Given the description of an element on the screen output the (x, y) to click on. 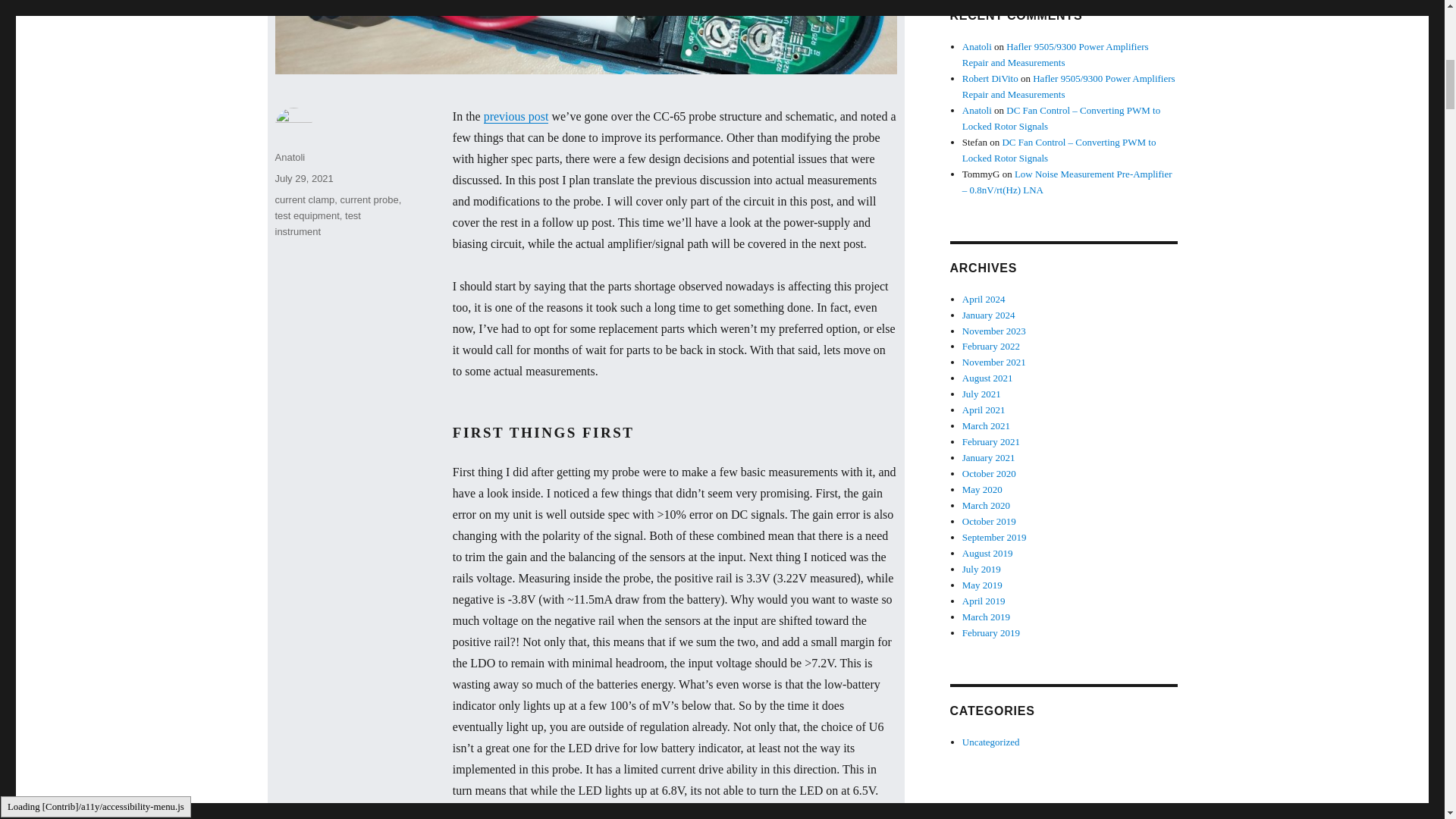
July 29, 2021 (304, 178)
Anatoli (289, 156)
test equipment (307, 215)
previous post (515, 115)
test instrument (317, 223)
current clamp (304, 199)
current probe (368, 199)
